Given the description of an element on the screen output the (x, y) to click on. 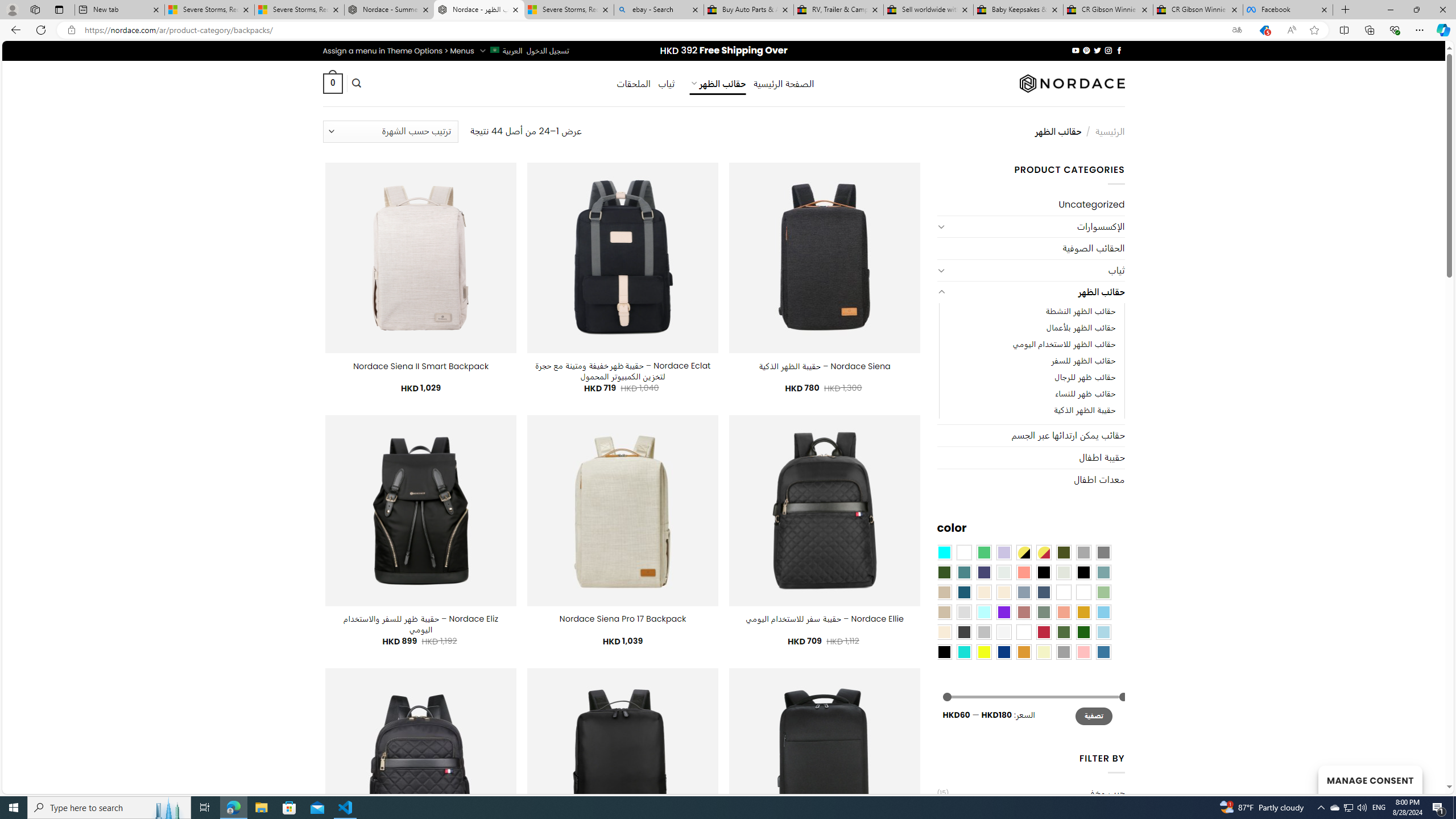
Purple (1003, 611)
Capri Blue (963, 591)
Buy Auto Parts & Accessories | eBay (747, 9)
Baby Keepsakes & Announcements for sale | eBay (1018, 9)
Mint (983, 611)
